Given the description of an element on the screen output the (x, y) to click on. 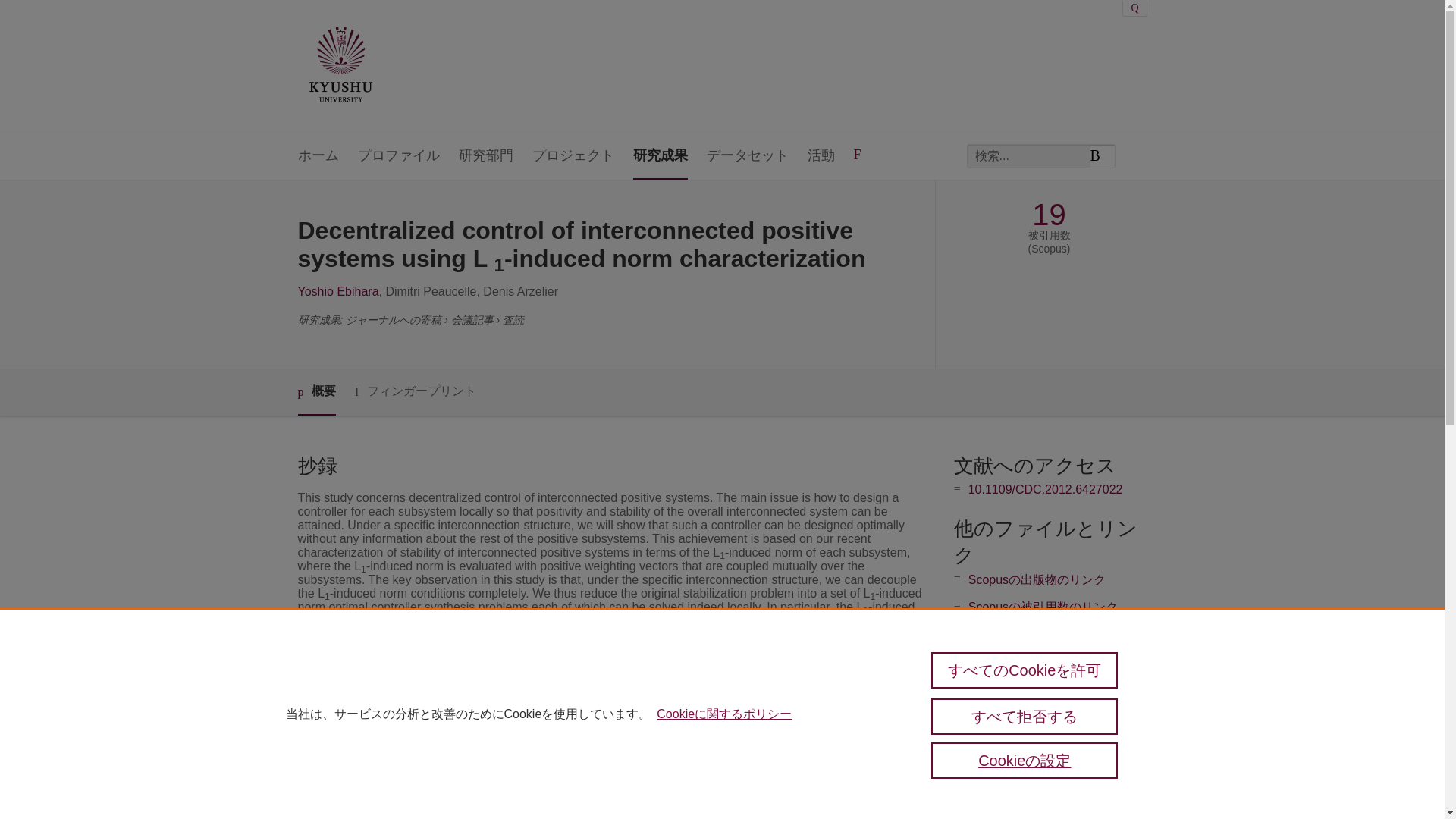
Proceedings of the IEEE Conference on Decision and Control (668, 735)
19 (1048, 214)
Yoshio Ebihara (337, 291)
51st IEEE Conference on Decision and Control, CDC 2012 (661, 791)
